Given the description of an element on the screen output the (x, y) to click on. 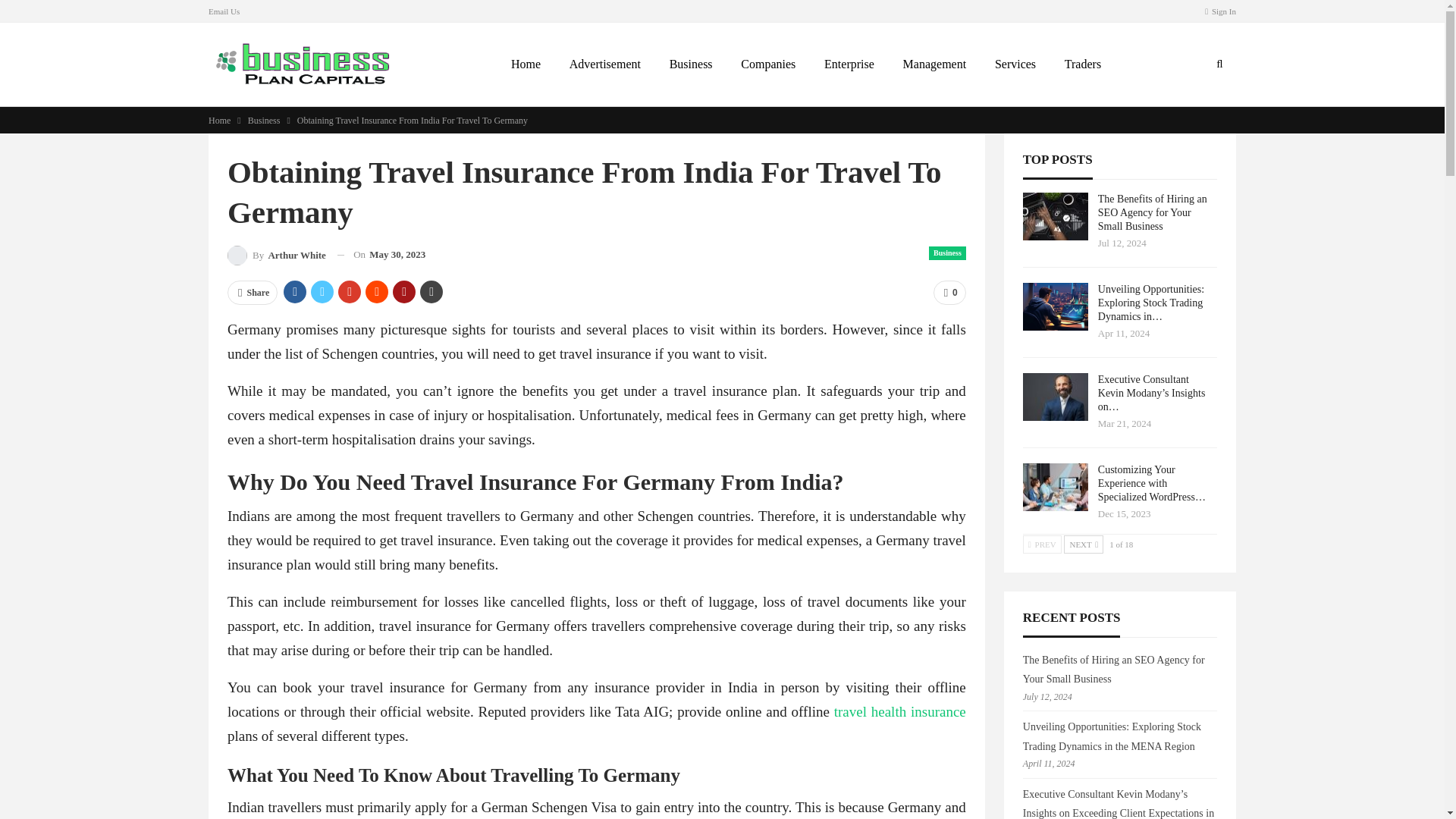
Sign In (1220, 11)
Email Us (224, 10)
0 (949, 292)
Advertisement (604, 64)
By Arthur White (276, 254)
travel health insurance (900, 711)
Management (934, 64)
Business (947, 253)
Browse Author Articles (276, 254)
Home (219, 120)
Business (264, 120)
